Given the description of an element on the screen output the (x, y) to click on. 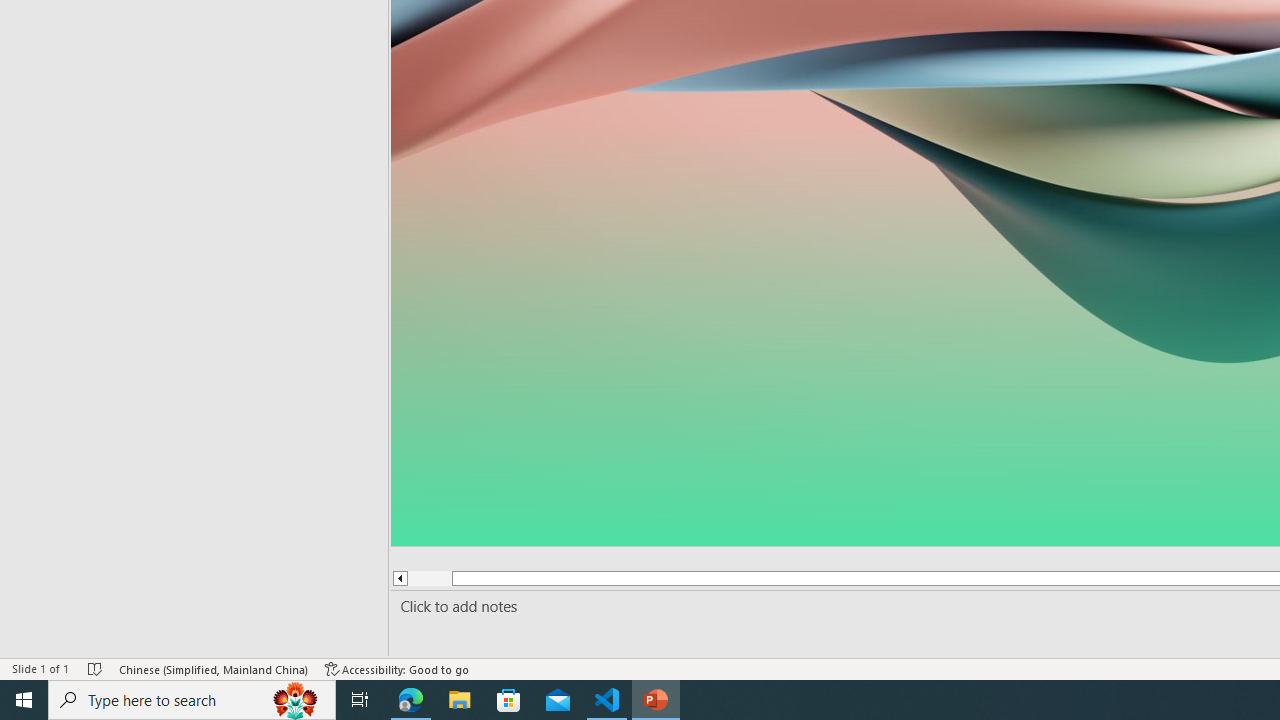
Spell Check No Errors (95, 668)
Accessibility Checker Accessibility: Good to go (397, 668)
